Given the description of an element on the screen output the (x, y) to click on. 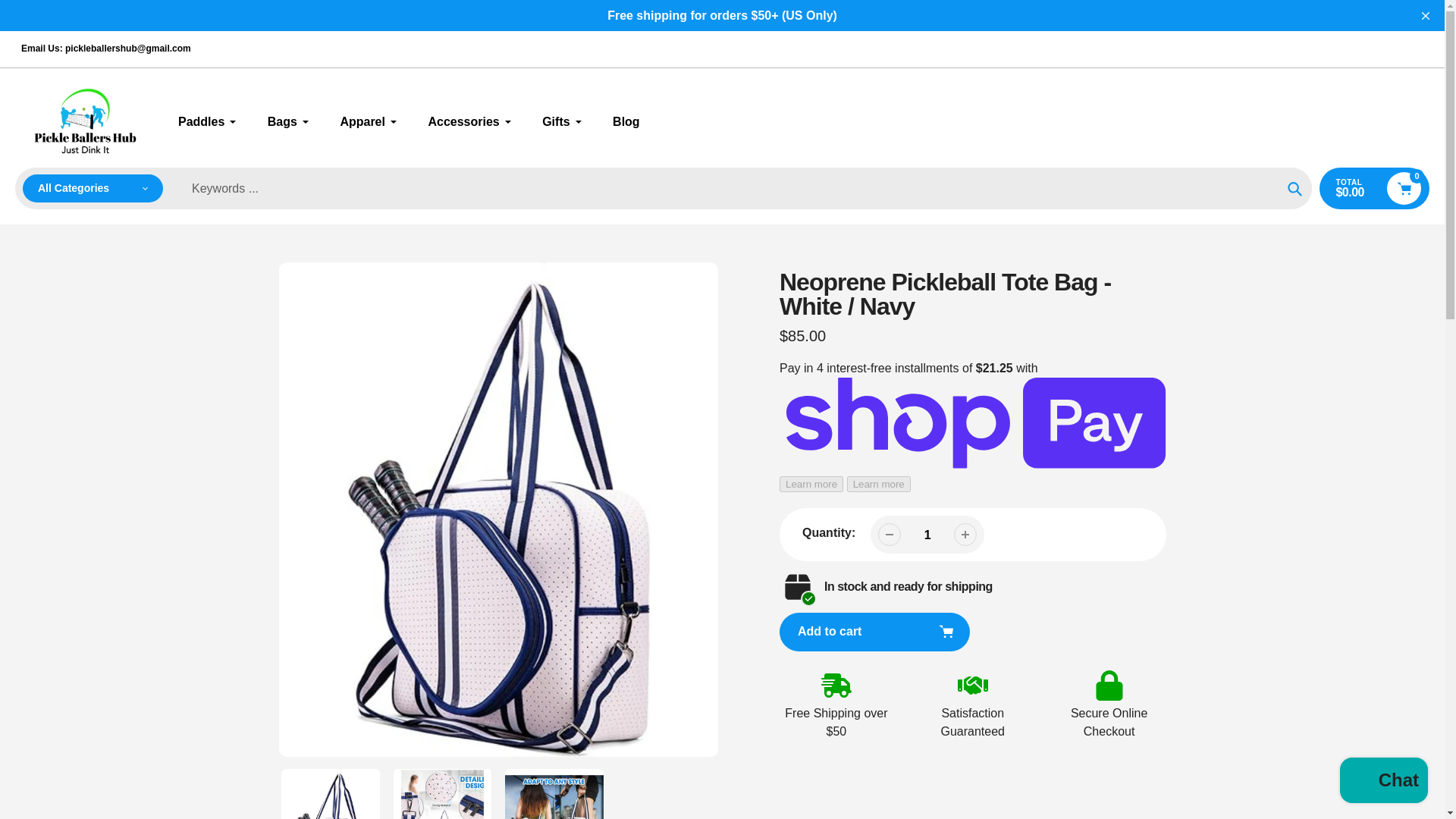
Paddles (207, 122)
Bags (288, 122)
1 (927, 534)
Shopify online store chat (1383, 781)
